Given the description of an element on the screen output the (x, y) to click on. 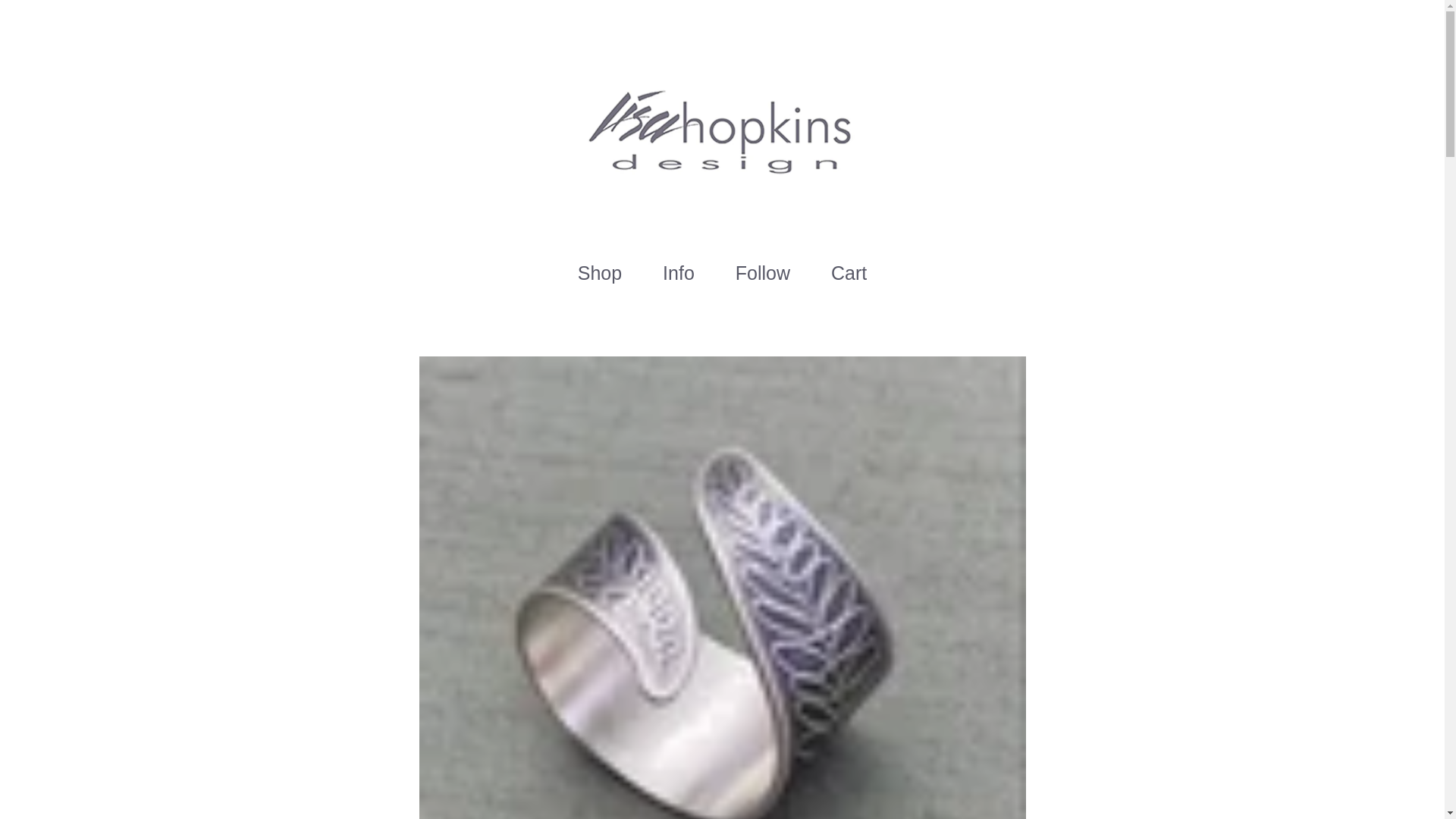
Cart (848, 273)
Info (678, 273)
Shop (599, 273)
Follow (762, 273)
